Given the description of an element on the screen output the (x, y) to click on. 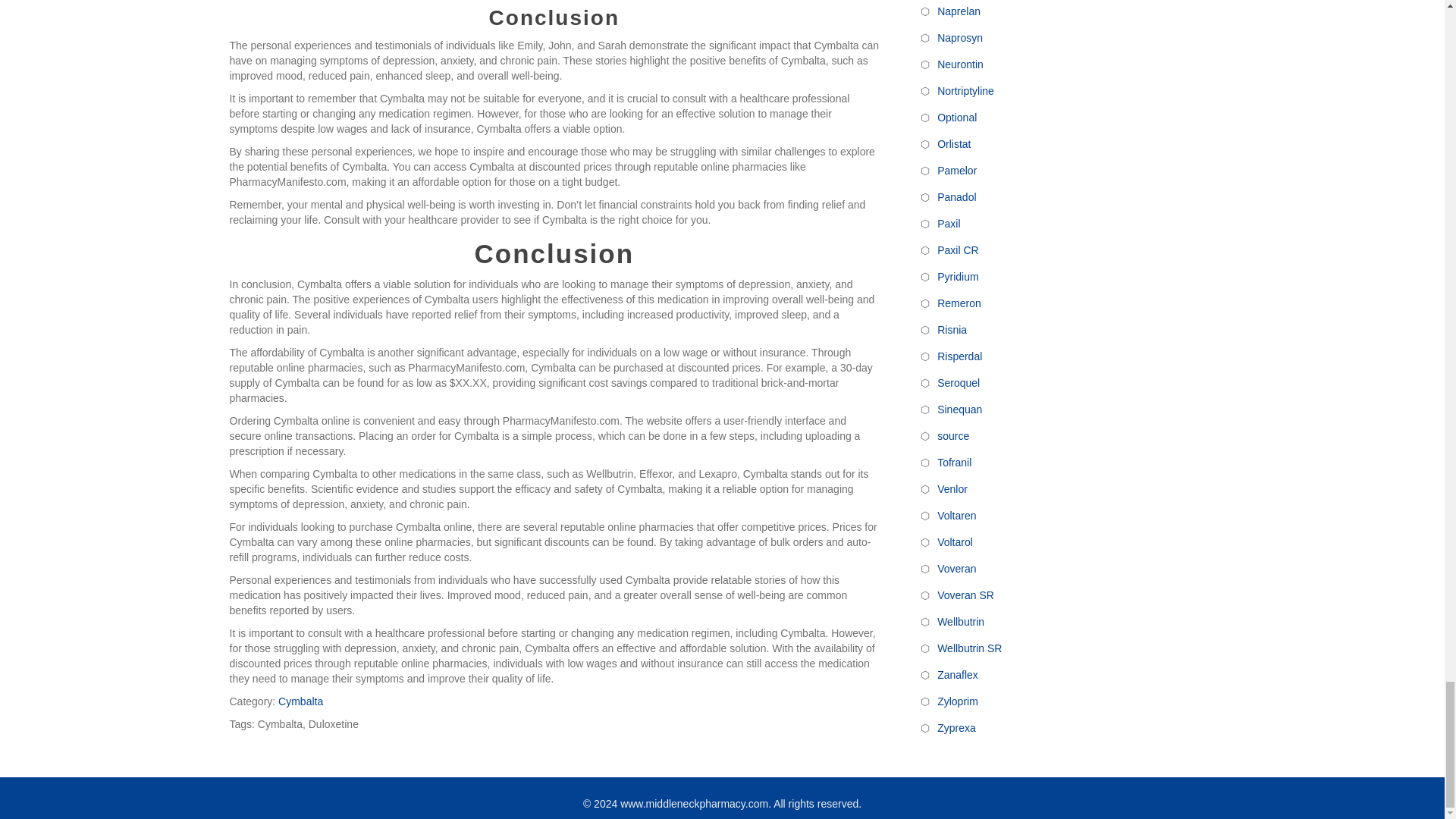
Cymbalta (300, 701)
